Given the description of an element on the screen output the (x, y) to click on. 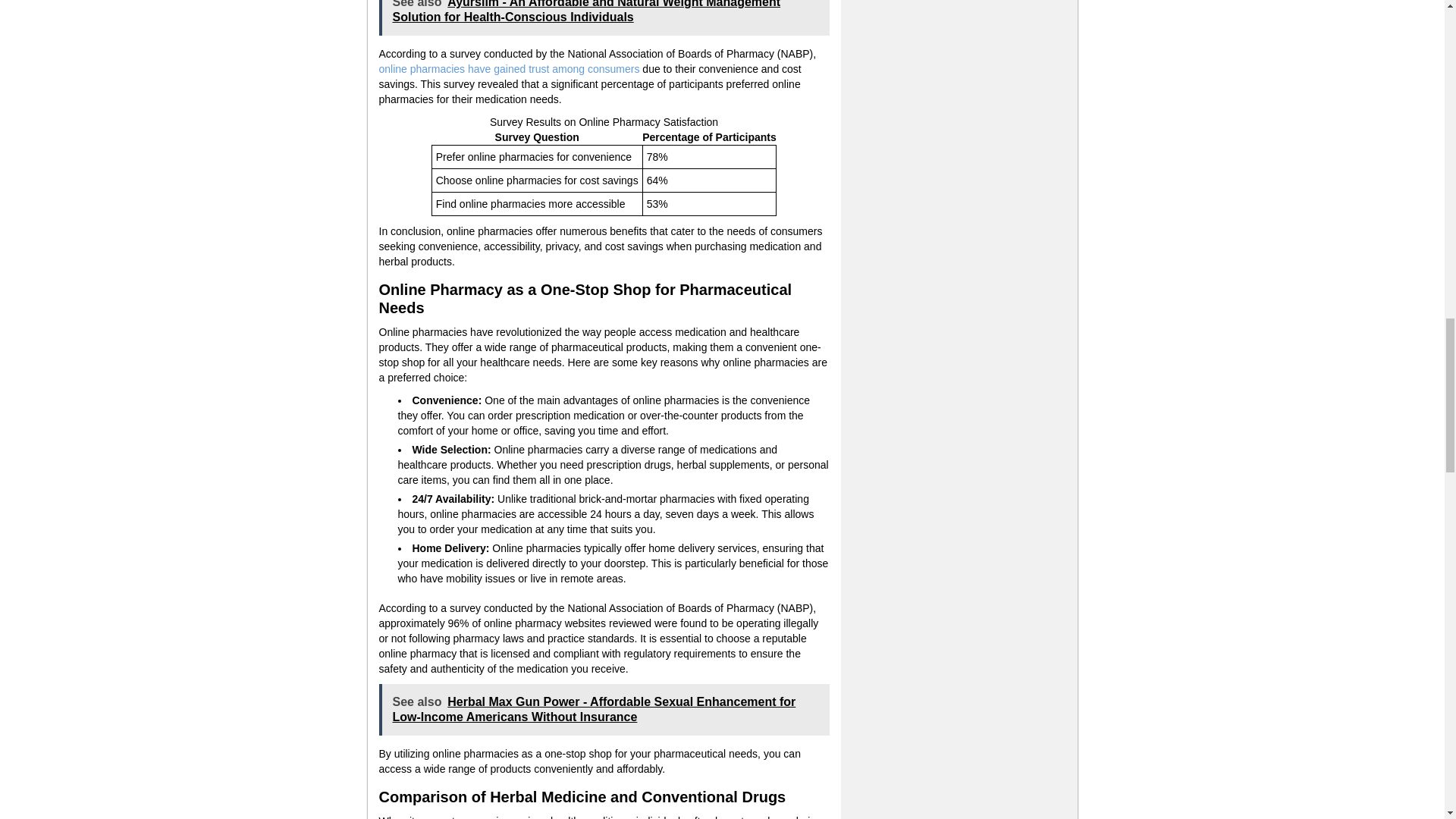
online pharmacies have gained trust among consumers (509, 69)
